Given the description of an element on the screen output the (x, y) to click on. 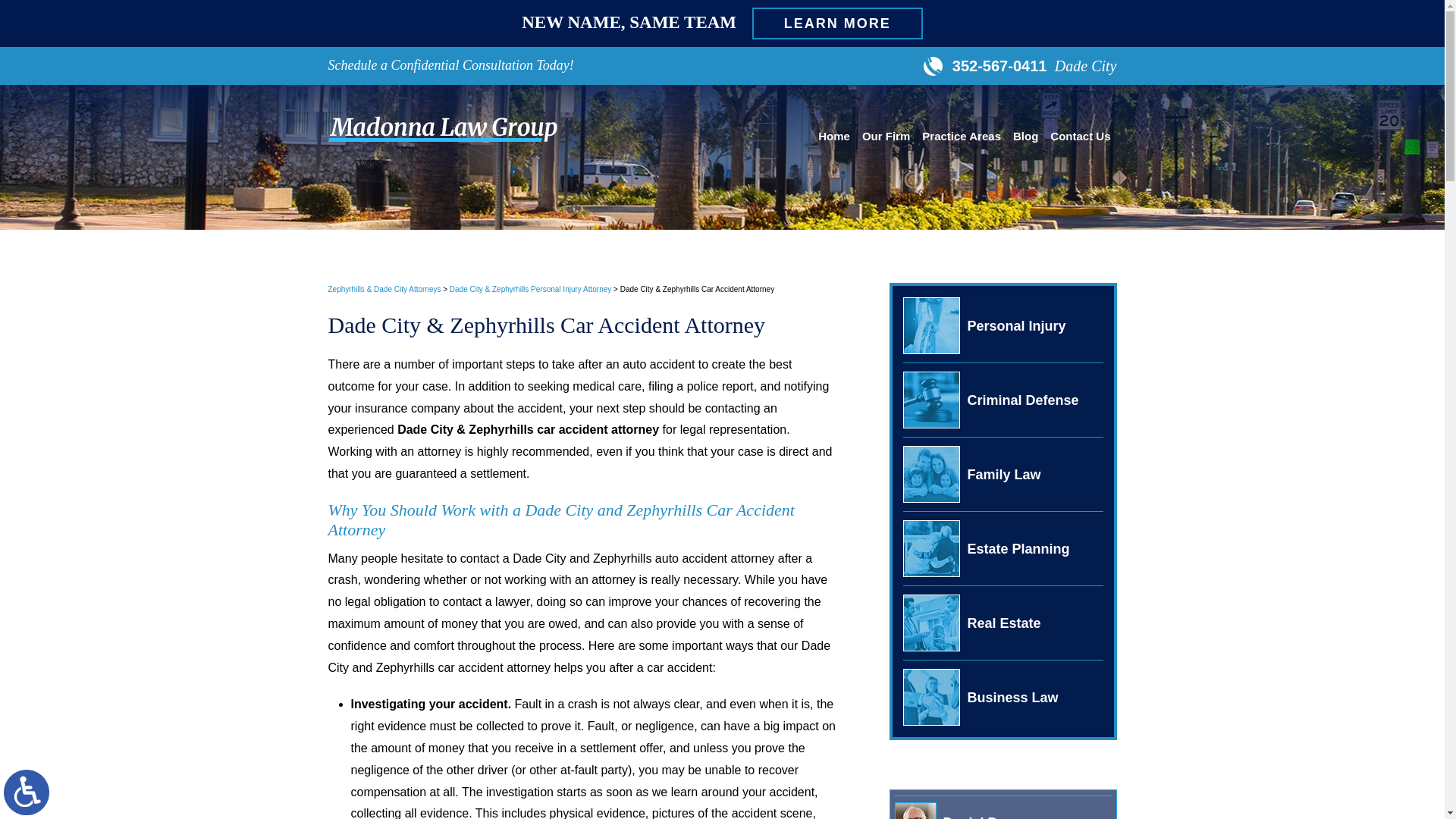
LEARN MORE (837, 23)
Home (834, 137)
352-567-0411 (987, 65)
Practice Areas (961, 137)
Our Firm (885, 137)
